Given the description of an element on the screen output the (x, y) to click on. 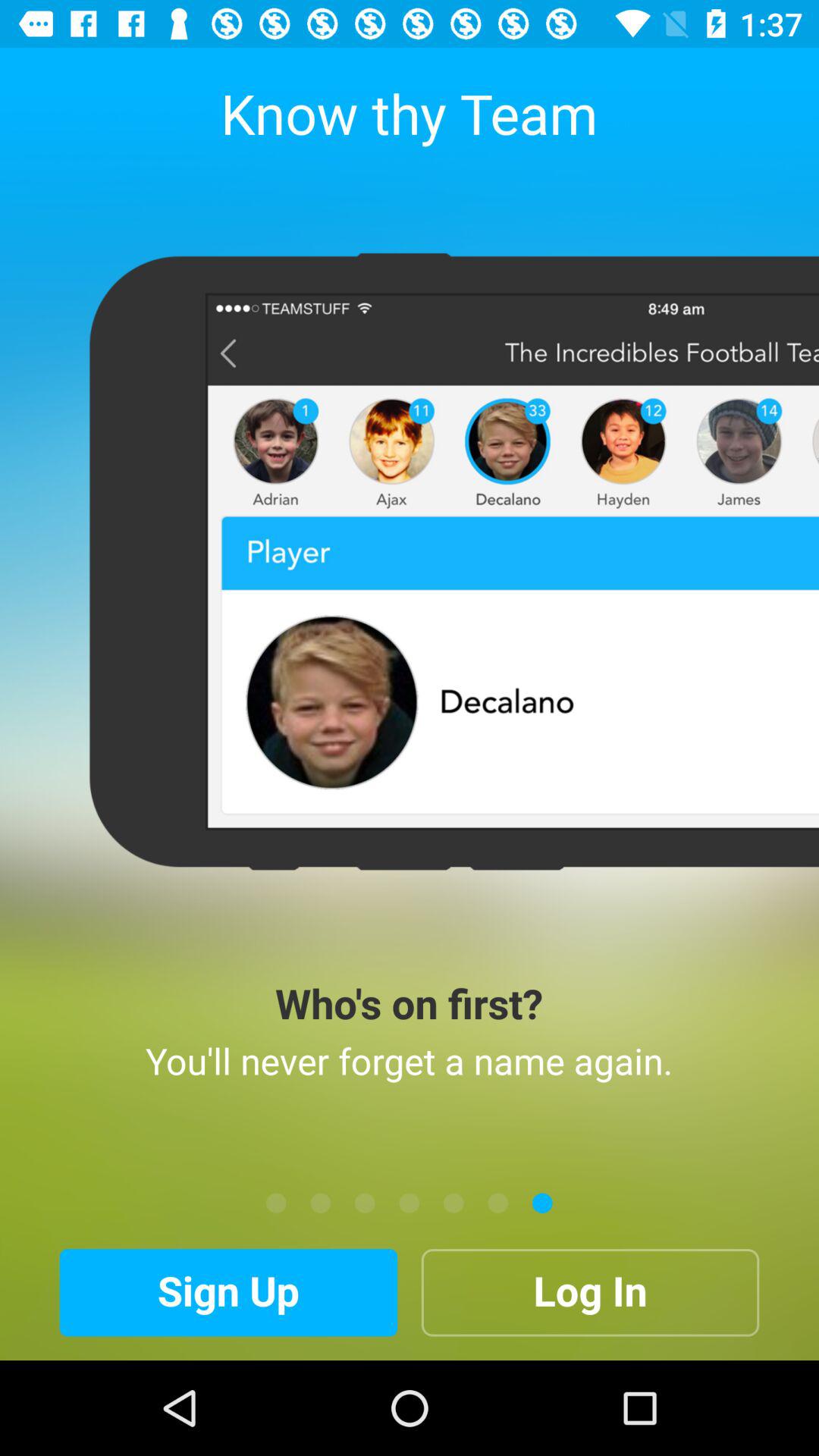
select the icon below you ll never item (320, 1203)
